Given the description of an element on the screen output the (x, y) to click on. 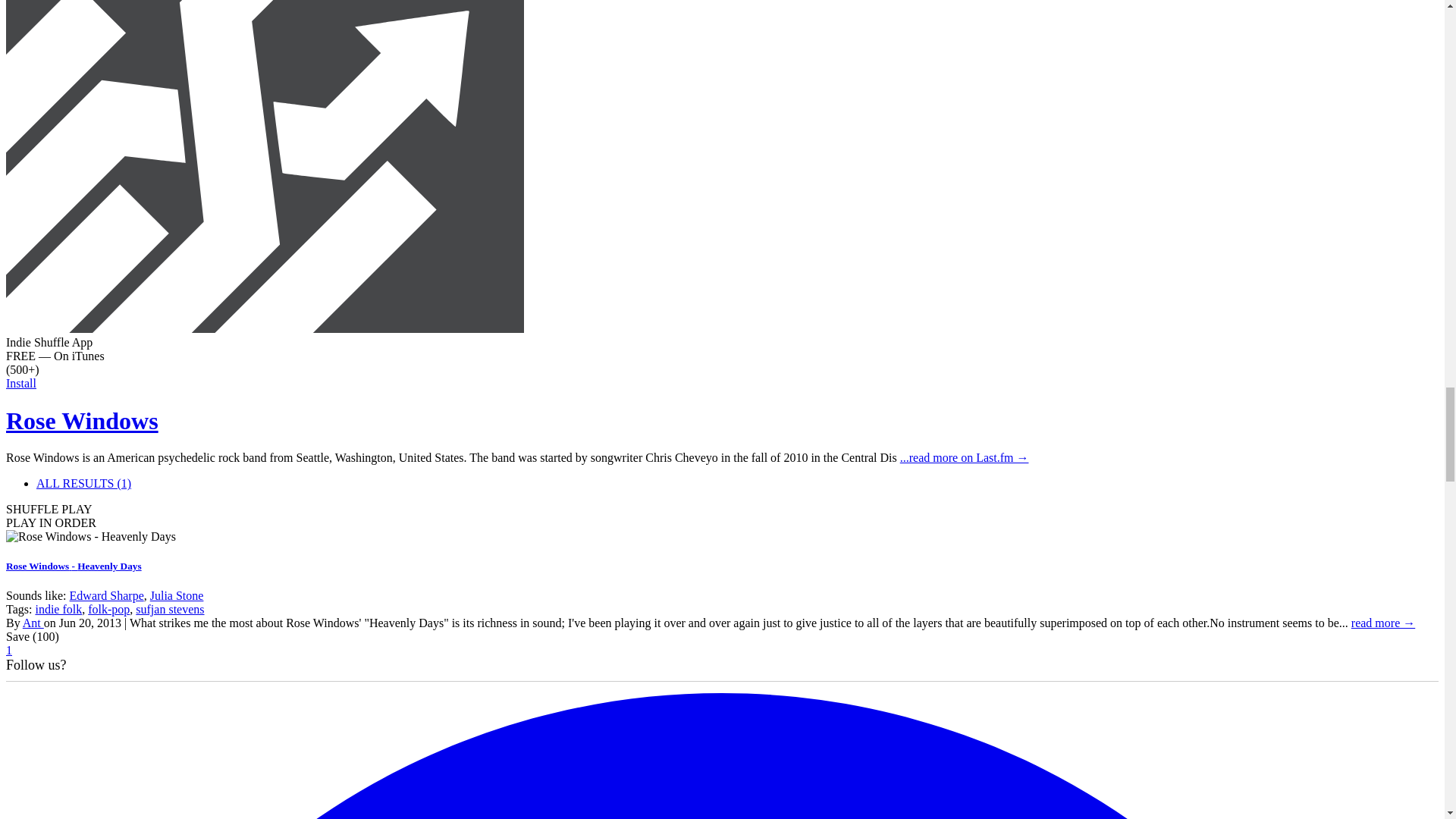
Install iPhone App (264, 328)
Indie folk Songs (57, 608)
Folk-pop Songs (108, 608)
Julia Stone (176, 594)
indie folk (57, 608)
sufjan stevens (169, 608)
folk-pop (108, 608)
Edward Sharpe (106, 594)
Sufjan stevens Songs (169, 608)
